Given the description of an element on the screen output the (x, y) to click on. 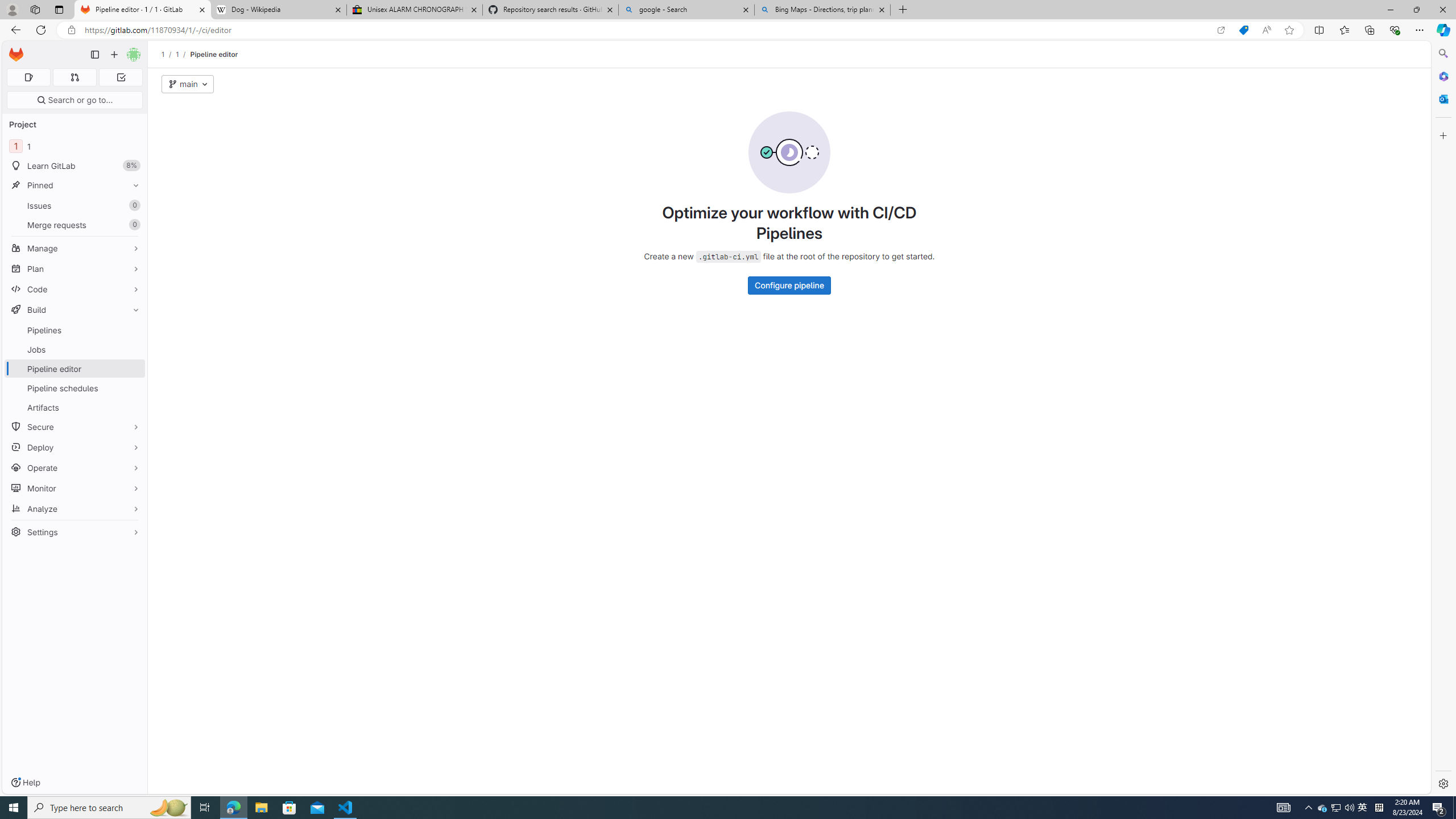
Jobs (74, 348)
main (187, 84)
Open in app (1220, 29)
Pipeline editor (213, 53)
Deploy (74, 447)
Secure (74, 426)
Code (74, 289)
Unpin Merge requests (132, 224)
Merge requests 0 (74, 76)
Pin Pipeline editor (132, 368)
1/ (183, 53)
